Given the description of an element on the screen output the (x, y) to click on. 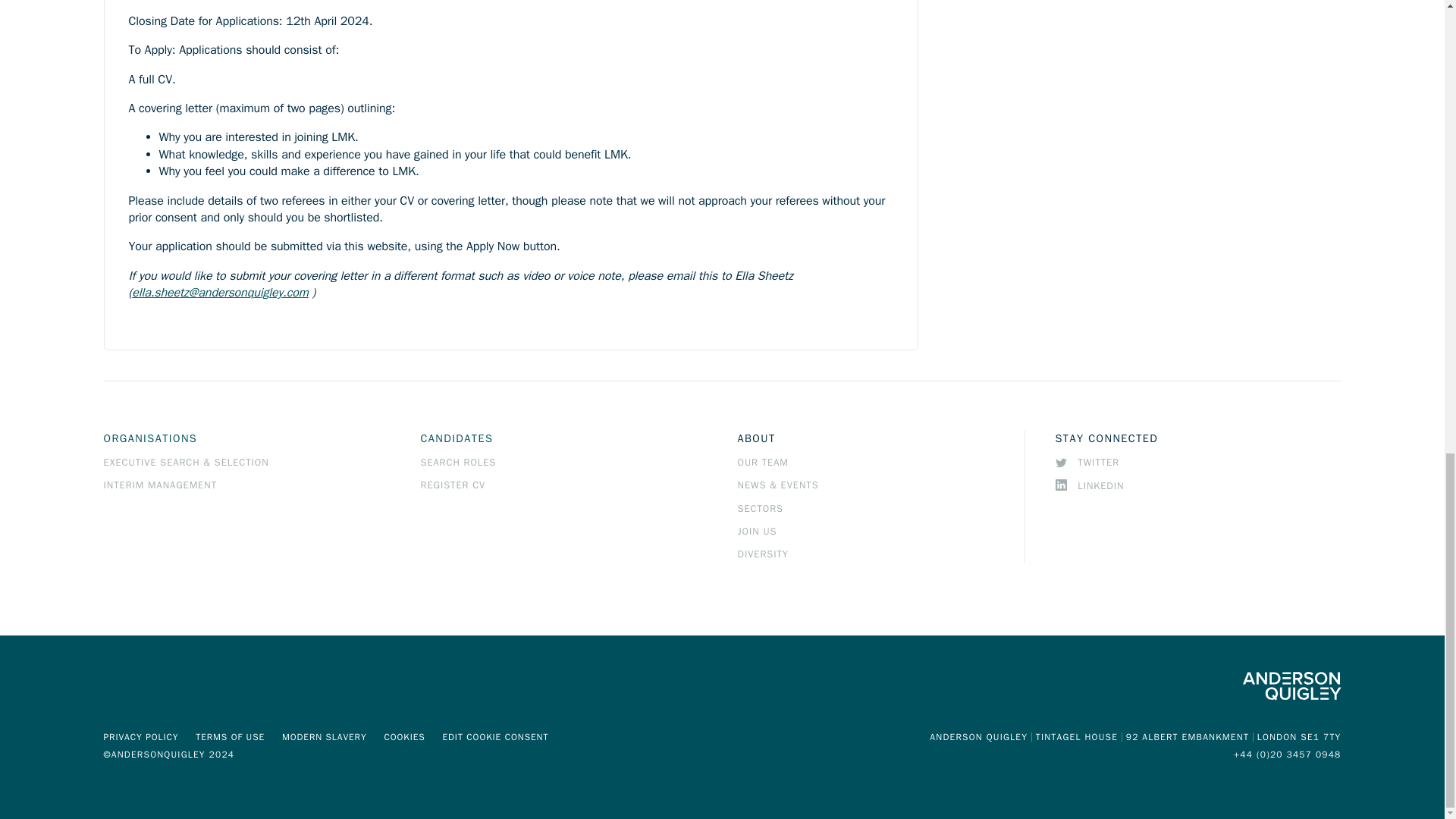
SEARCH ROLES (458, 462)
REGISTER CV (452, 485)
CANDIDATES (456, 438)
INTERIM MANAGEMENT (159, 485)
OUR TEAM (761, 462)
ORGANISATIONS (149, 438)
SECTORS (759, 508)
